Given the description of an element on the screen output the (x, y) to click on. 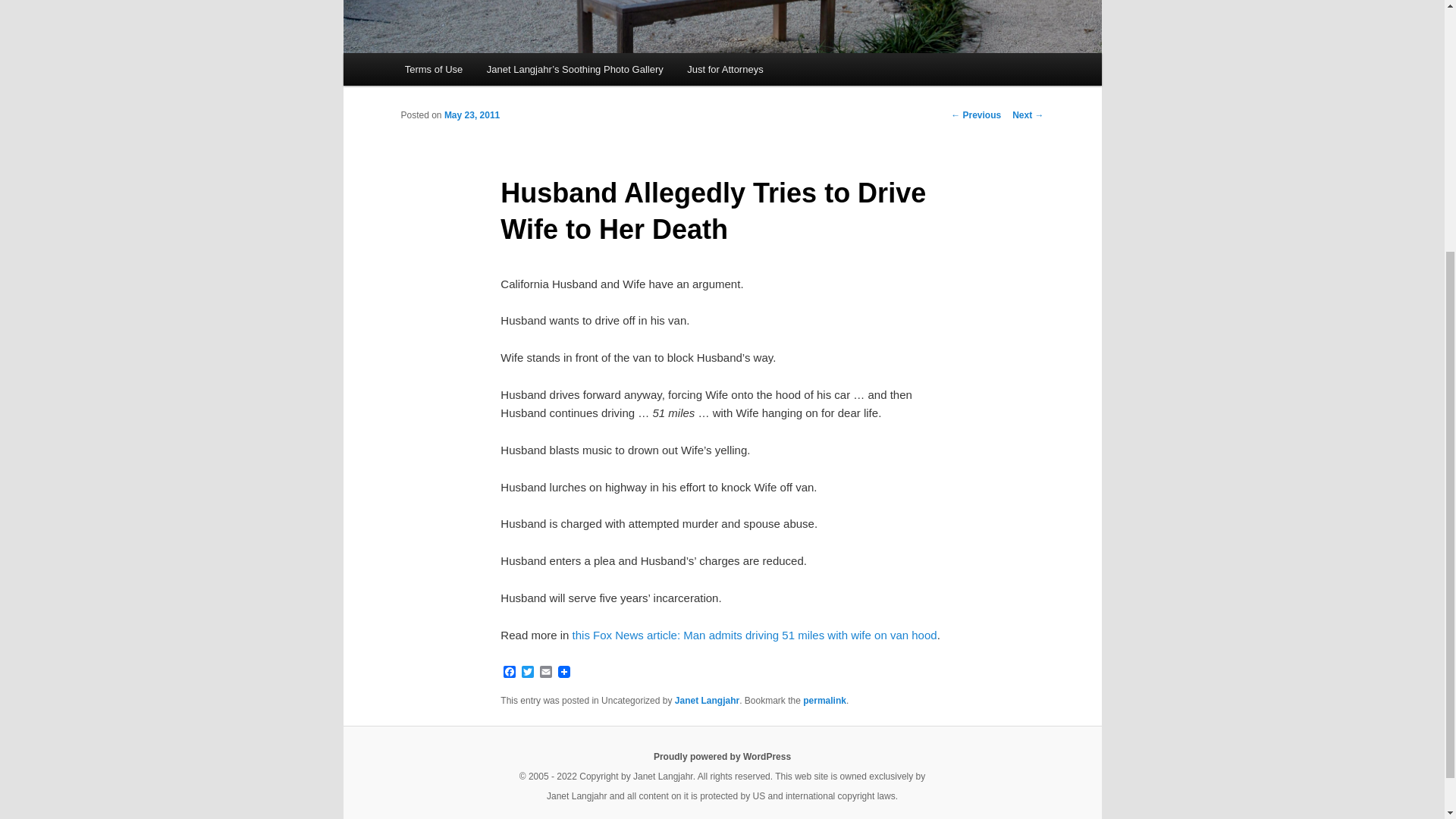
Email (545, 672)
Facebook (509, 672)
Facebook (509, 672)
Semantic Personal Publishing Platform (721, 756)
May 23, 2011 (471, 114)
Terms of Use (433, 69)
permalink (824, 700)
Twitter (527, 672)
4:14 pm (471, 114)
Janet Langjahr (707, 700)
Proudly powered by WordPress (721, 756)
Email (545, 672)
